Given the description of an element on the screen output the (x, y) to click on. 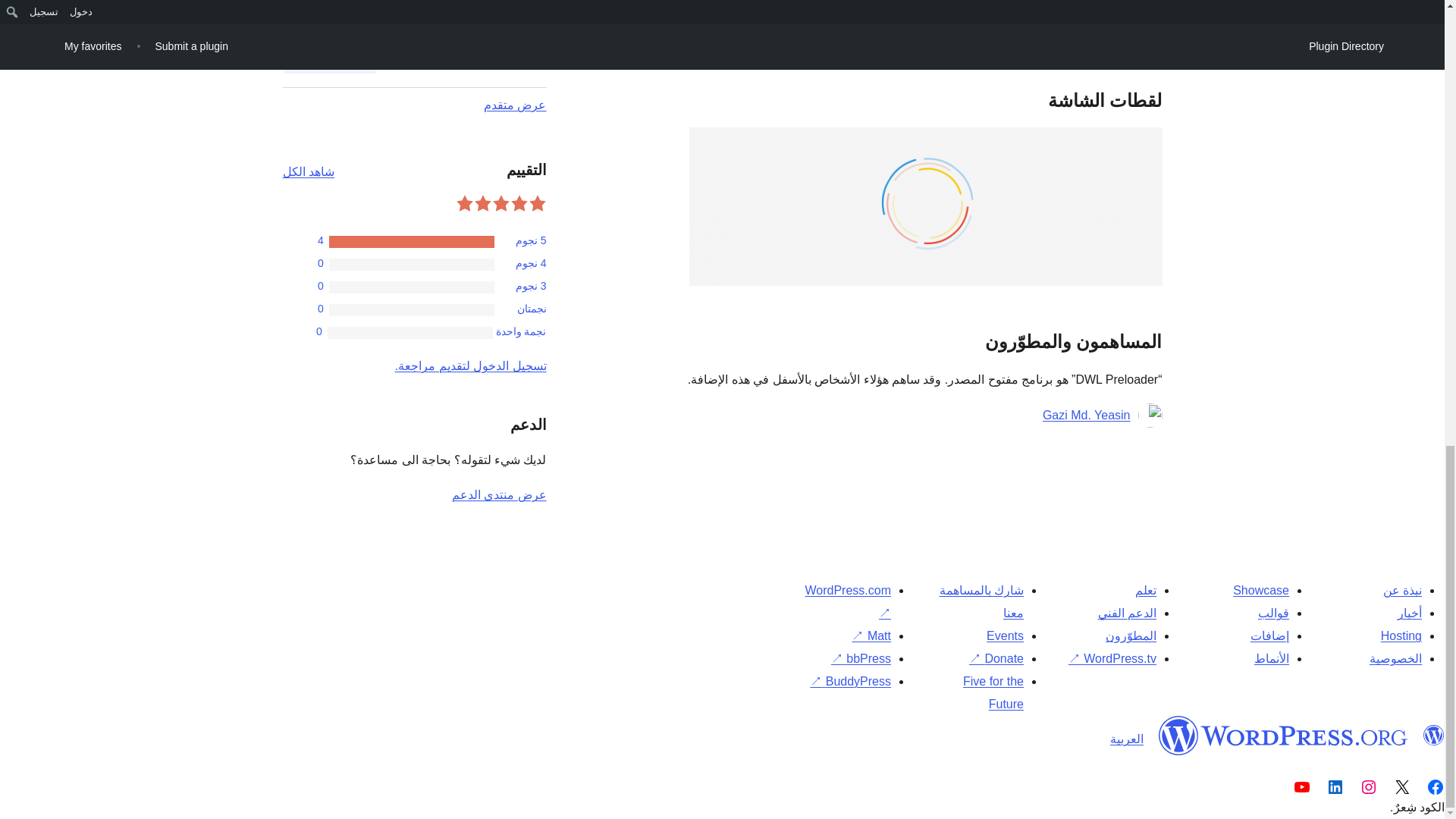
WordPress.org (1282, 735)
Gazi Md. Yeasin (1086, 415)
